Given the description of an element on the screen output the (x, y) to click on. 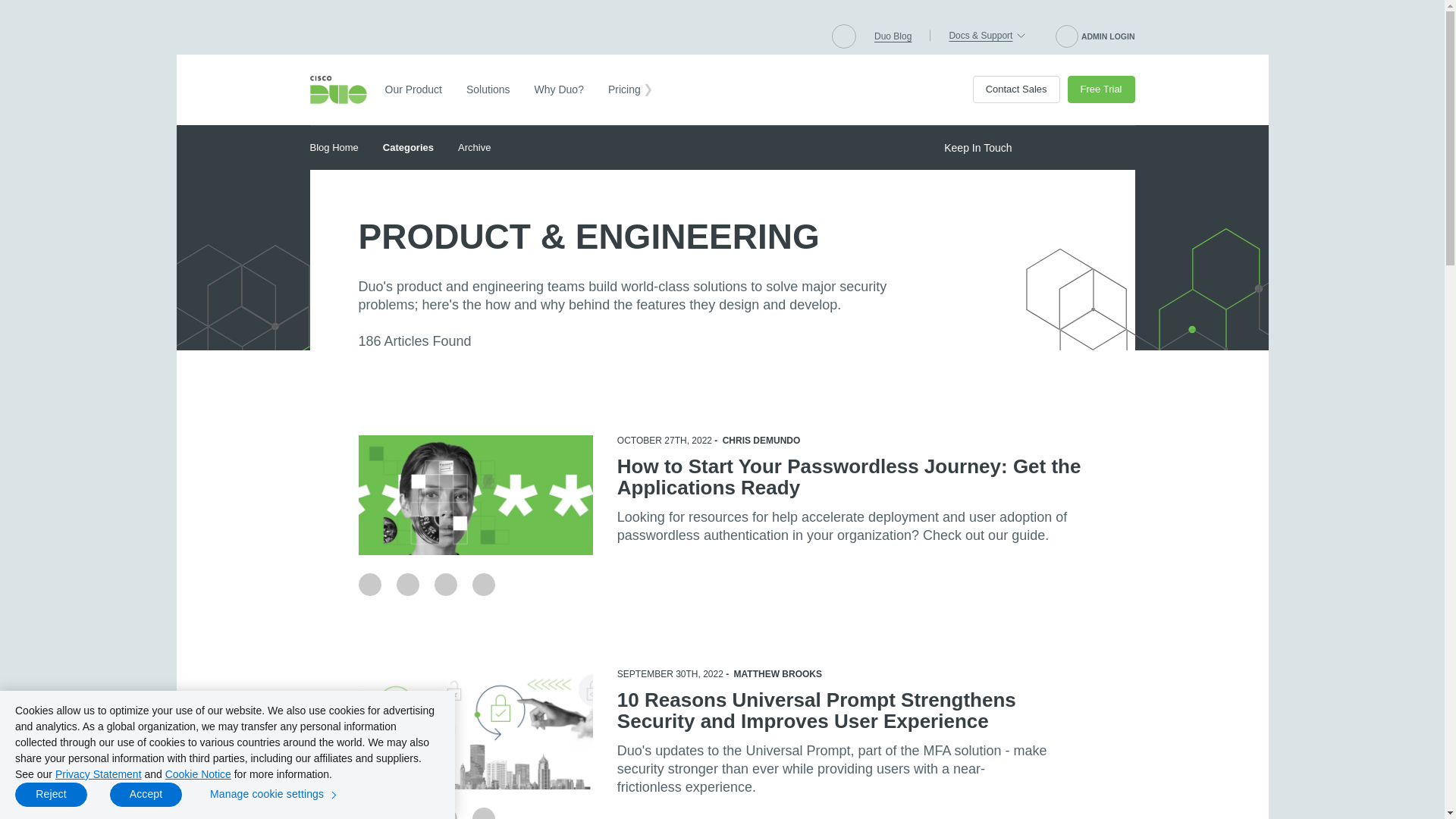
Duo Blog (893, 35)
Search (843, 36)
Our Product (413, 89)
Solutions (488, 89)
ADMIN LOGIN (1094, 36)
